Given the description of an element on the screen output the (x, y) to click on. 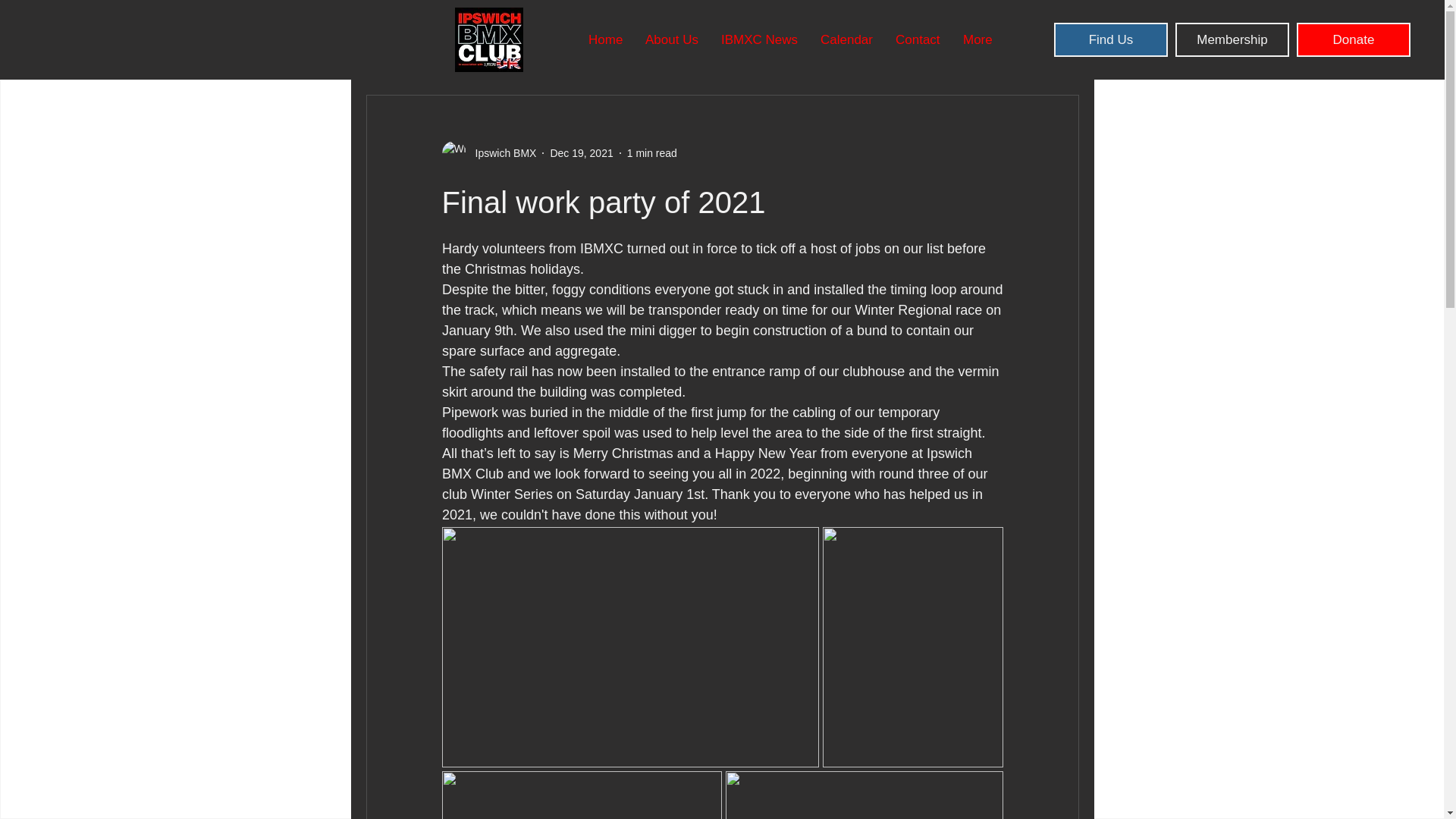
Ipswich BMX (500, 153)
Contact (917, 39)
About Us (671, 39)
Dec 19, 2021 (581, 152)
IBMXC News (759, 39)
Ipswich BMX (488, 152)
Home (604, 39)
Donate (1353, 39)
Find Us (1110, 39)
Calendar (846, 39)
Membership (1231, 39)
1 min read (652, 152)
